Given the description of an element on the screen output the (x, y) to click on. 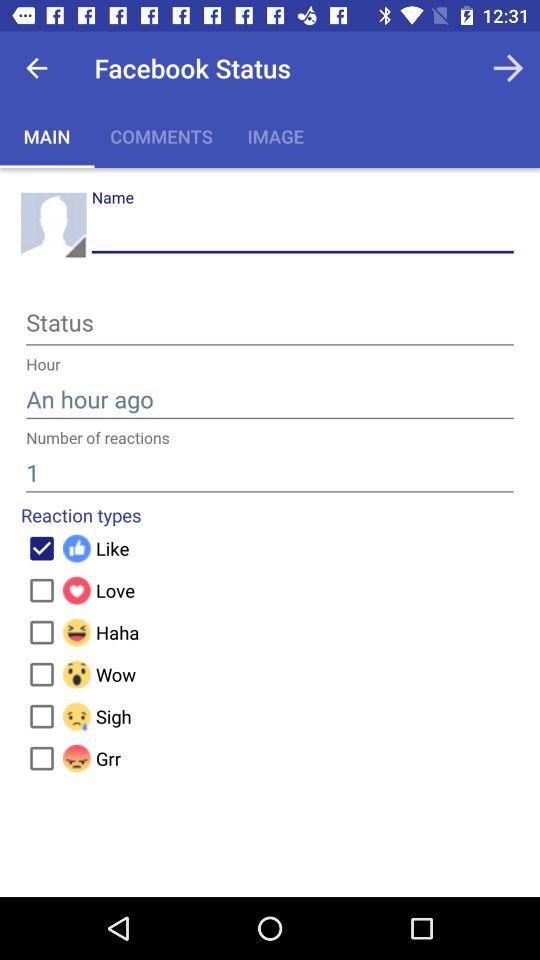
status page (270, 325)
